Given the description of an element on the screen output the (x, y) to click on. 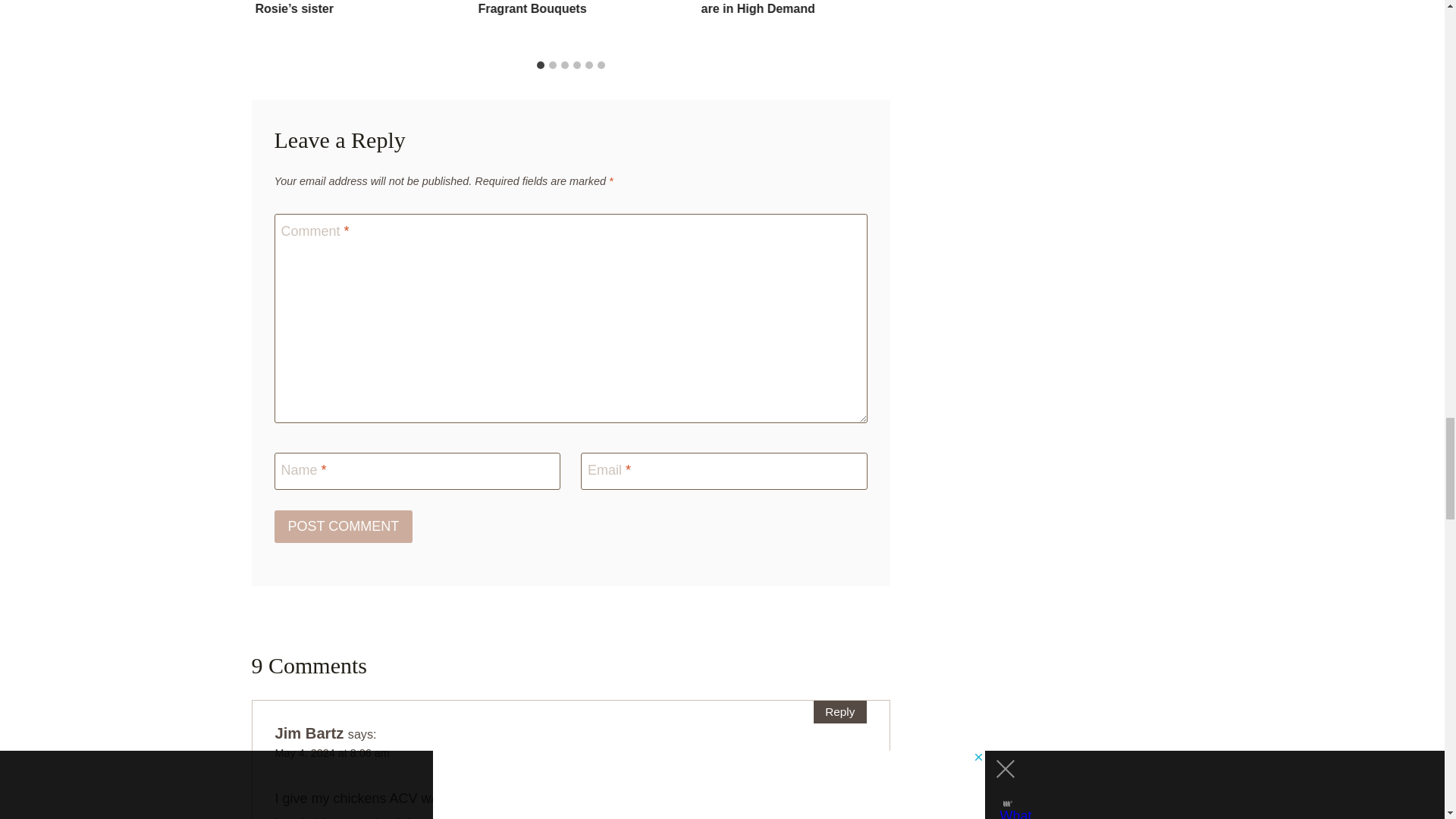
Post Comment (344, 526)
